Given the description of an element on the screen output the (x, y) to click on. 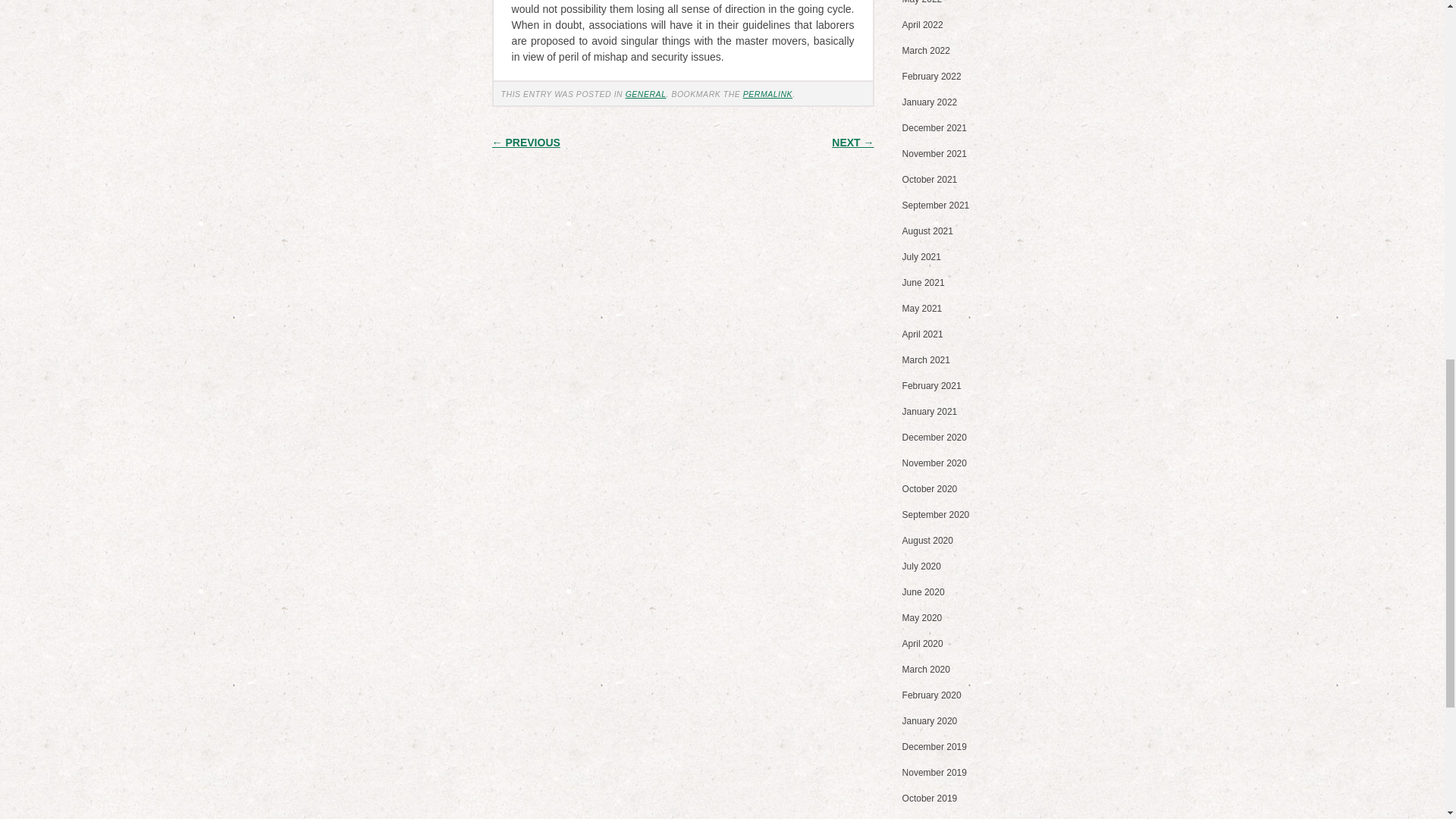
April 2022 (922, 24)
GENERAL (646, 93)
PERMALINK (767, 93)
May 2022 (922, 2)
